Given the description of an element on the screen output the (x, y) to click on. 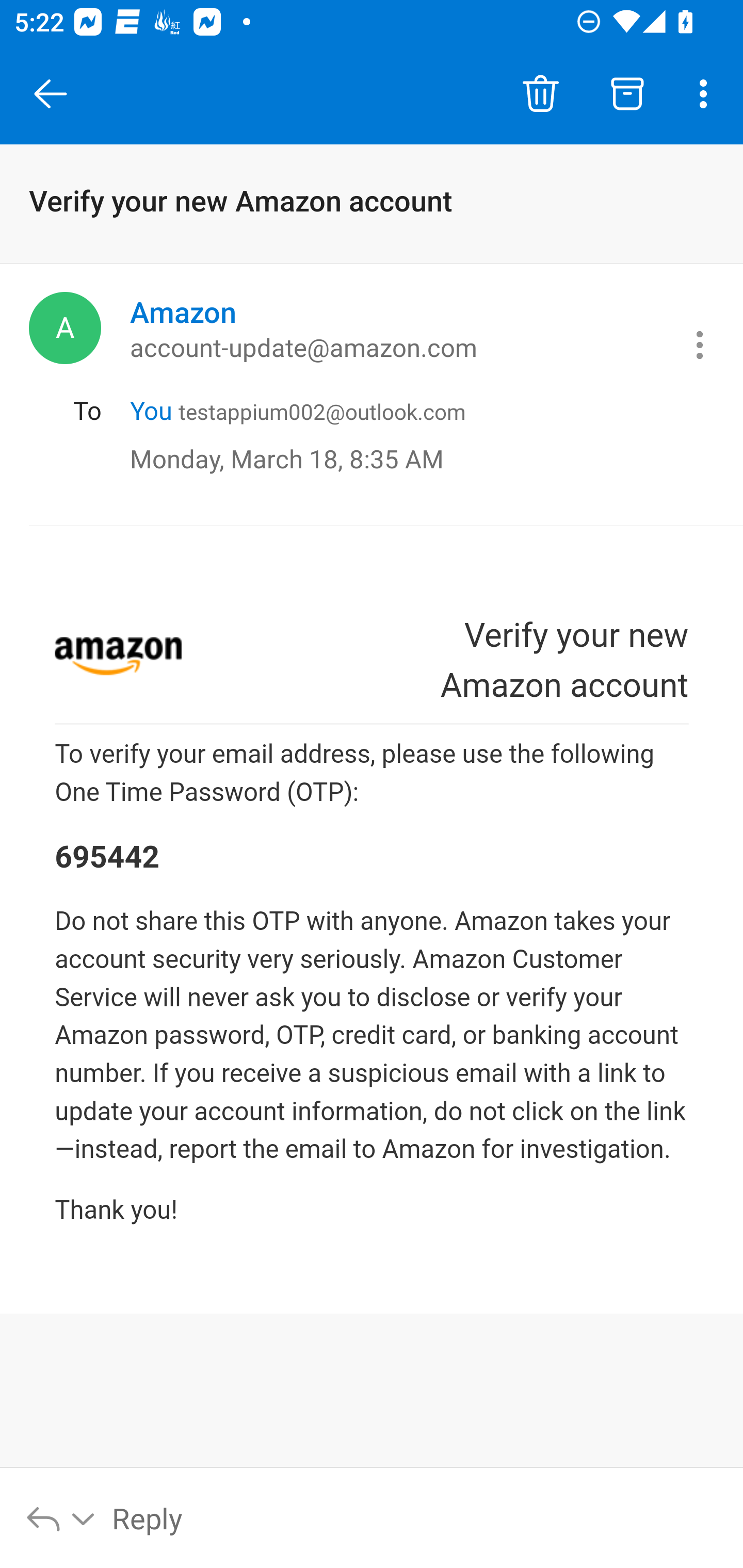
Close (50, 93)
Delete (540, 93)
Archive (626, 93)
More options (706, 93)
Amazon, account-update@amazon.com (64, 327)
Amazon 
account-update@amazon.com (393, 327)
Message actions (699, 344)
Reply options (61, 1517)
